Given the description of an element on the screen output the (x, y) to click on. 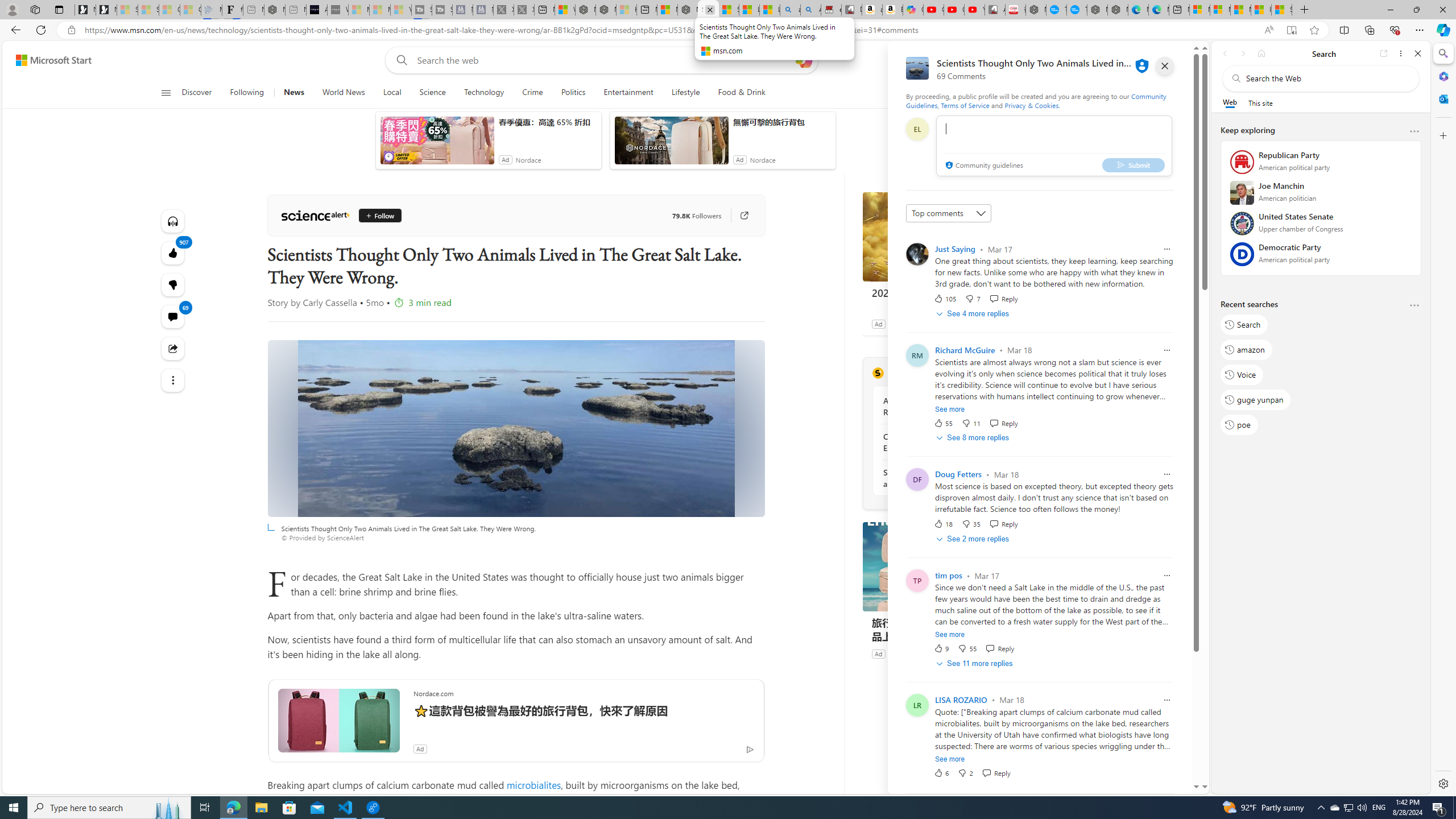
Science (432, 92)
This site scope (1259, 102)
Ad (877, 653)
Copilot (Ctrl+Shift+.) (1442, 29)
Add this page to favorites (Ctrl+D) (1314, 29)
See more (172, 380)
Terms of Service (965, 104)
Side bar (1443, 418)
Lifestyle (685, 92)
YouTube Kids - An App Created for Kids to Explore Content (974, 9)
comment-box (1054, 145)
Open link in new tab (1383, 53)
